Given the description of an element on the screen output the (x, y) to click on. 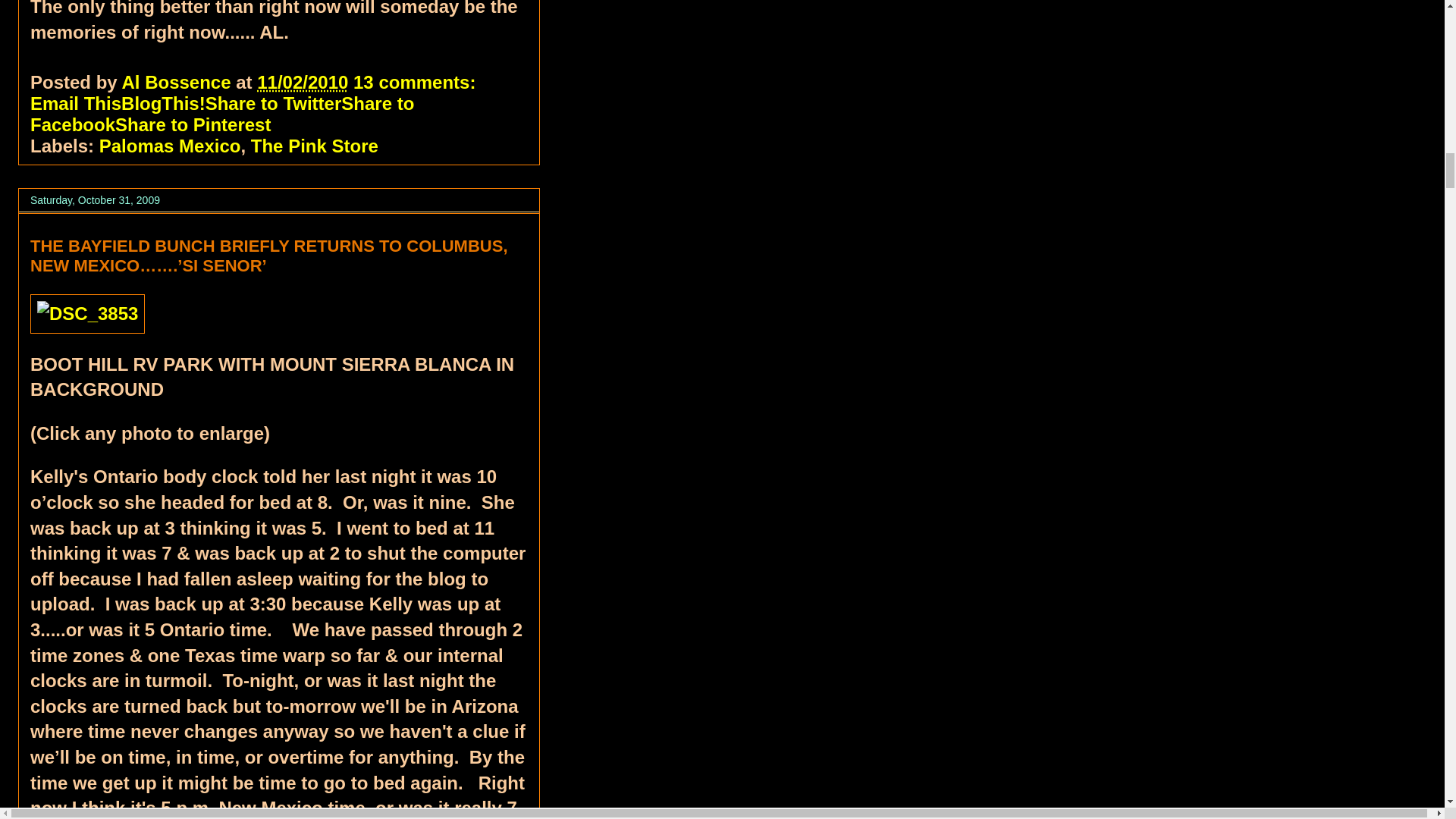
Email This (75, 103)
Share to Twitter (273, 103)
Al Bossence (177, 82)
permanent link (302, 82)
Share to Pinterest (192, 124)
13 comments: (416, 82)
Palomas Mexico (170, 145)
The Pink Store (314, 145)
BlogThis! (162, 103)
Share to Facebook (221, 114)
author profile (177, 82)
BlogThis! (162, 103)
Email This (75, 103)
